Given the description of an element on the screen output the (x, y) to click on. 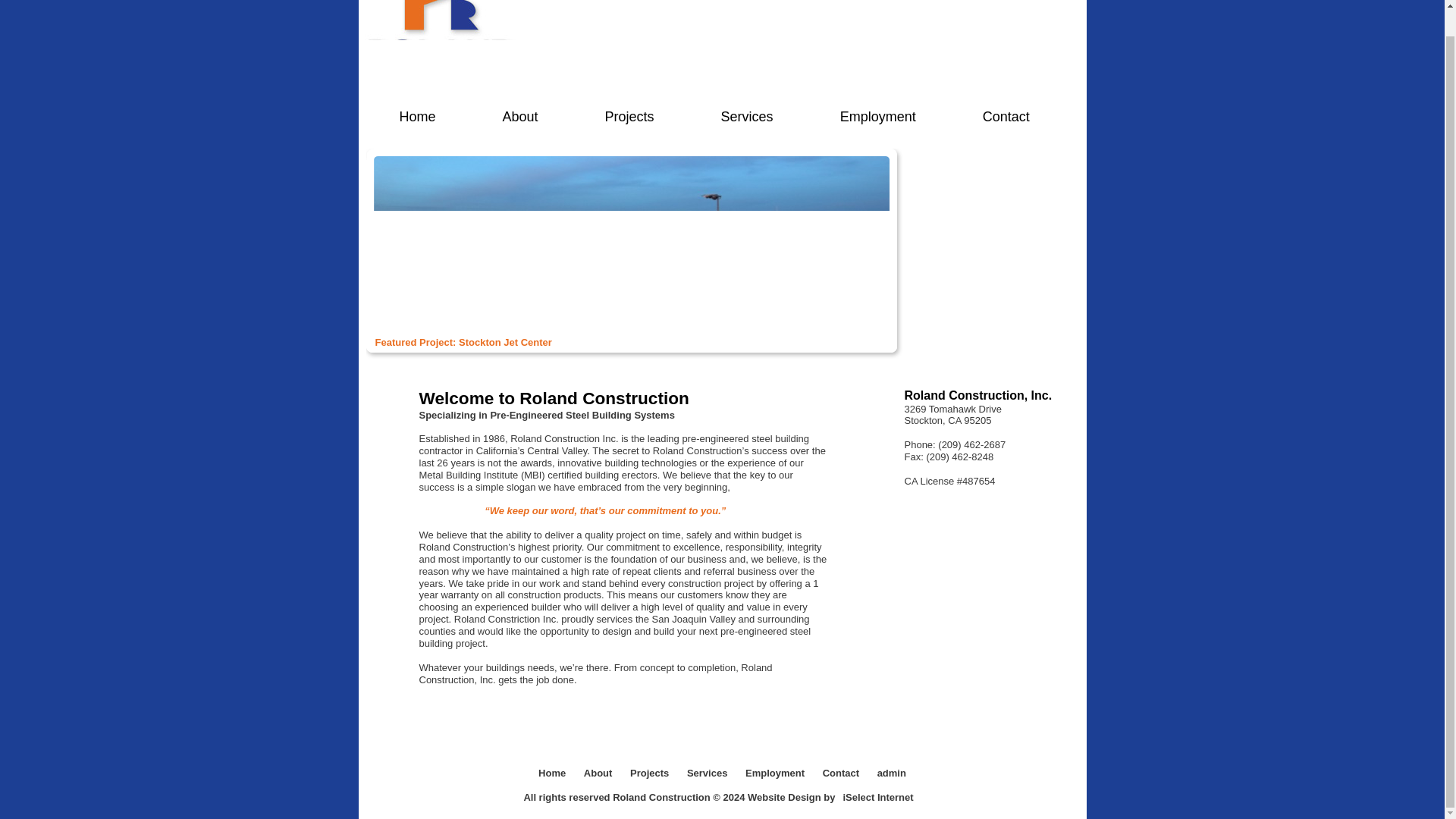
Contact (1005, 110)
admin (891, 772)
iSelect Internet (877, 797)
Home (416, 110)
Projects (651, 772)
Home (553, 772)
Employment (877, 110)
Employment (776, 772)
Contact (842, 772)
Services (708, 772)
Projects (629, 110)
Services (746, 110)
About (520, 110)
About (599, 772)
